Given the description of an element on the screen output the (x, y) to click on. 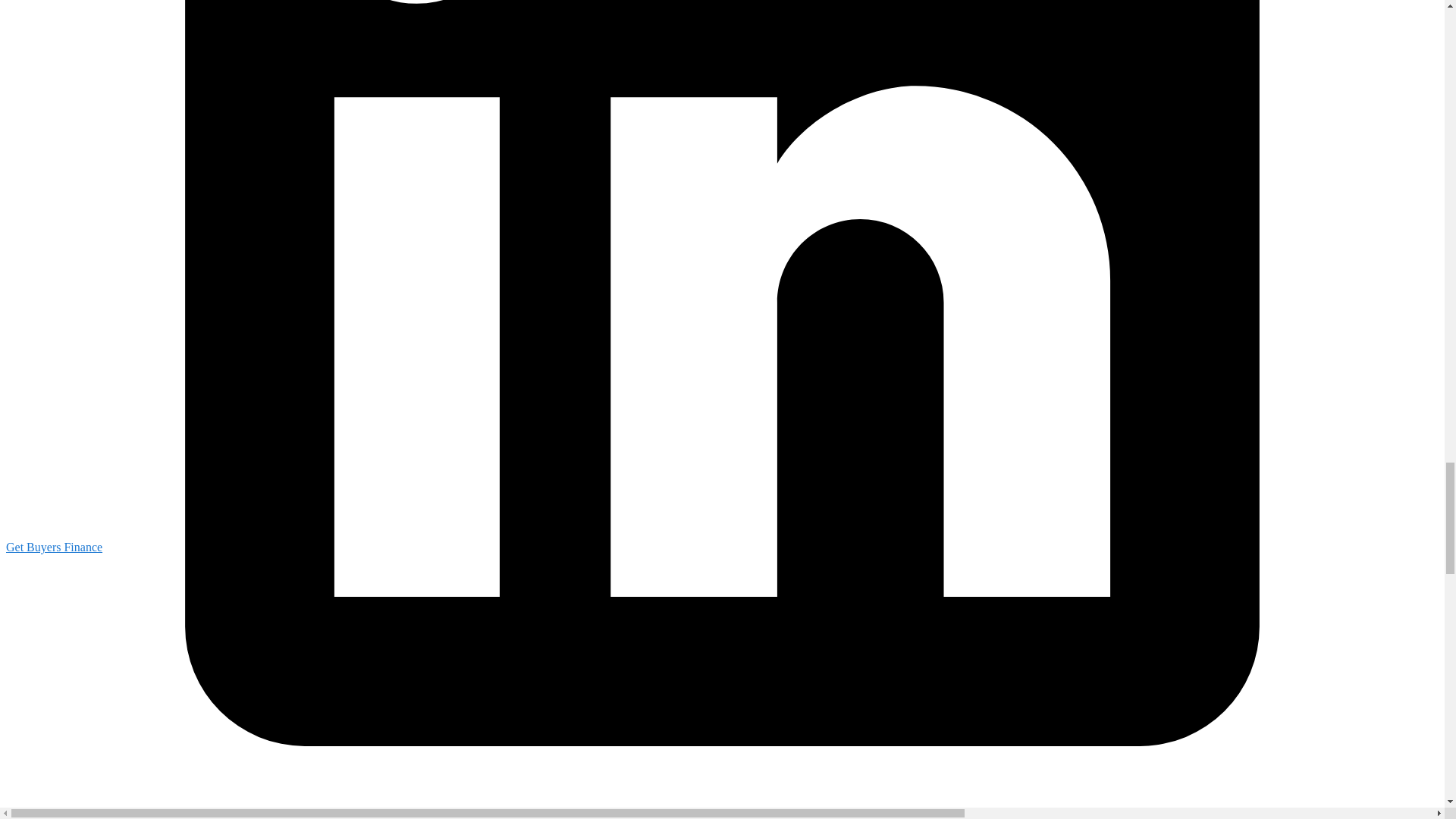
Get Buyers Finance (53, 546)
